Given the description of an element on the screen output the (x, y) to click on. 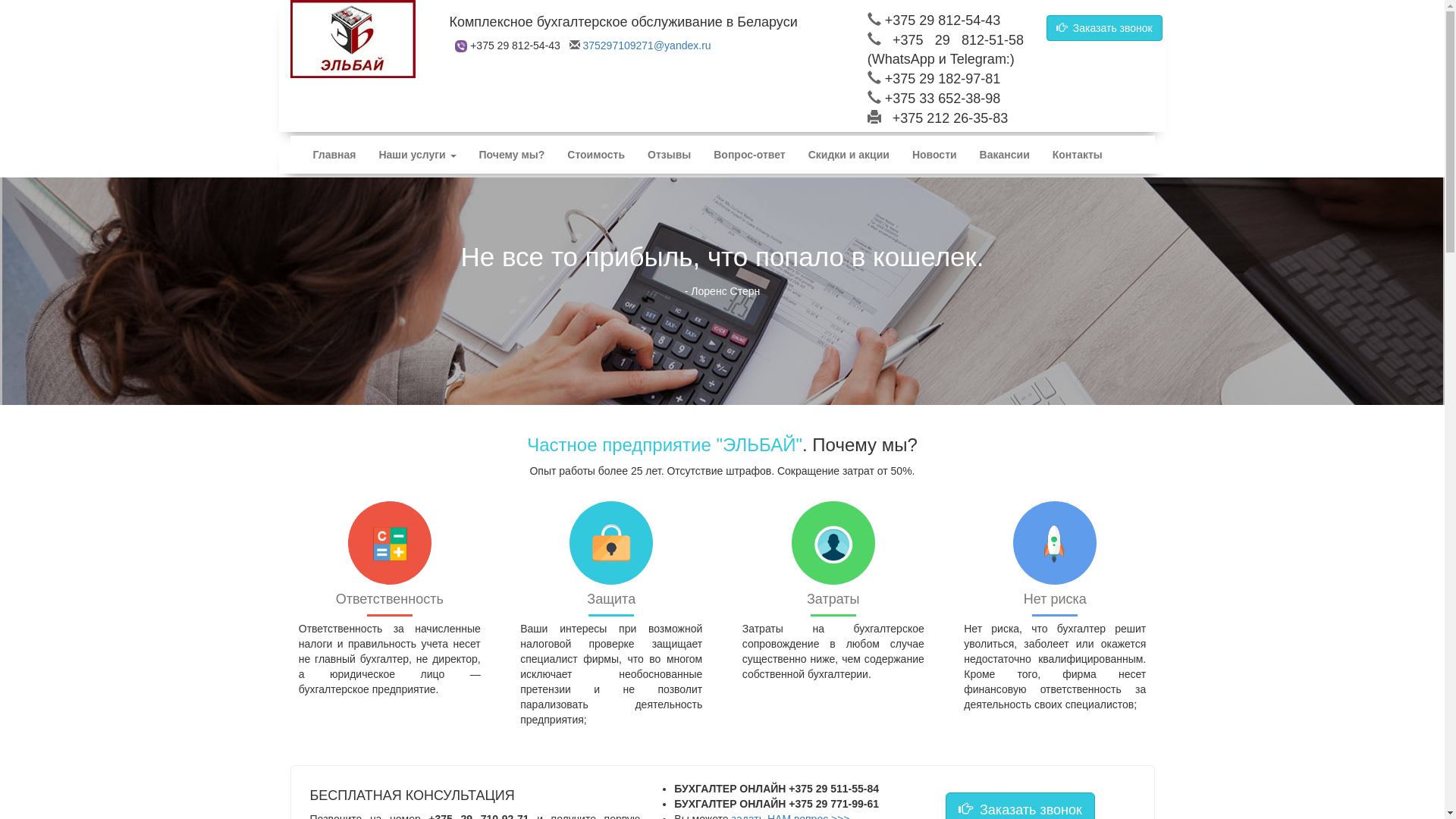
375297109271@yandex.ru Element type: text (646, 45)
